Given the description of an element on the screen output the (x, y) to click on. 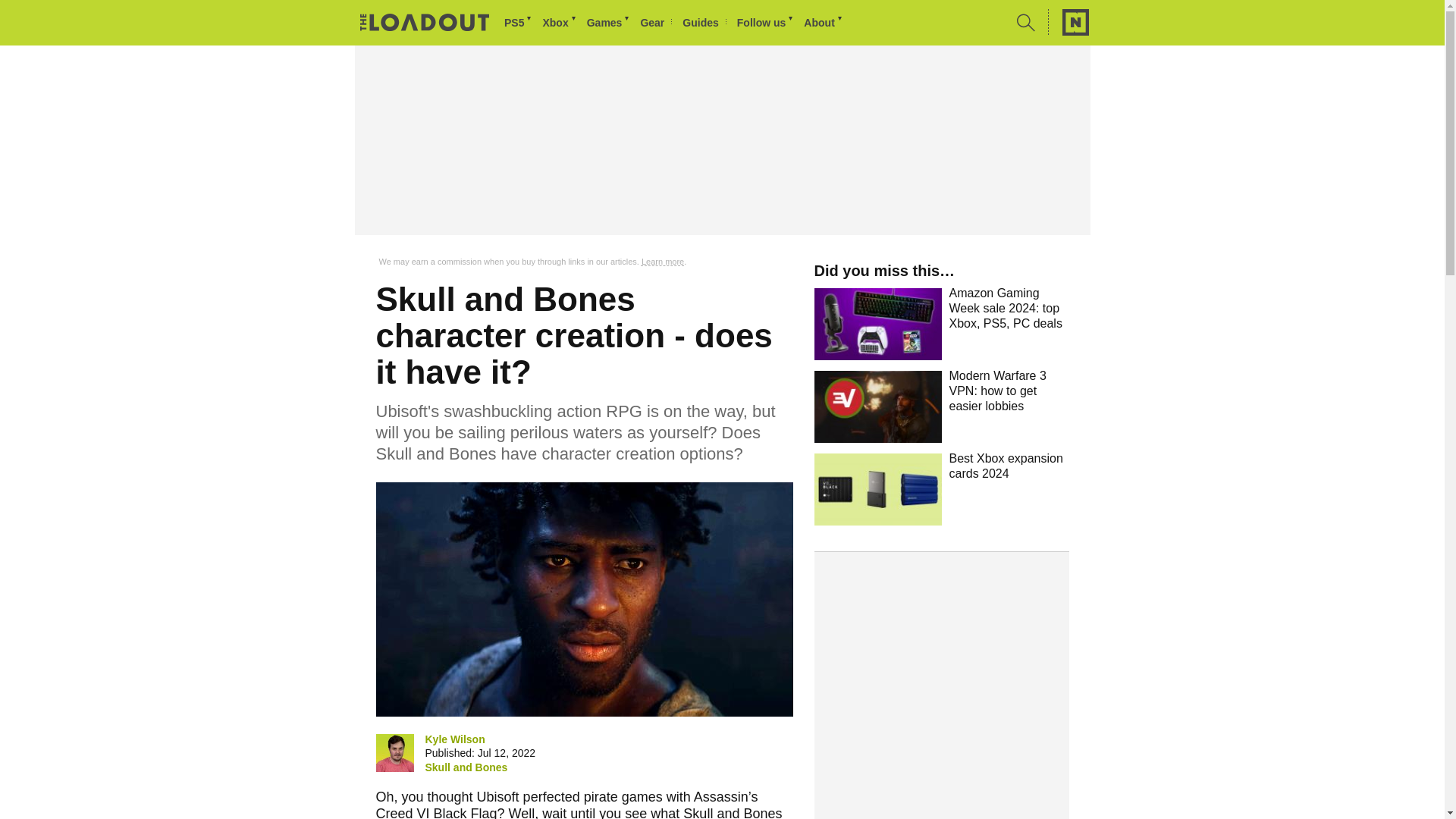
Kyle Wilson (394, 752)
Guides (704, 22)
Skull and Bones (465, 767)
Network N Media (1068, 22)
The Loadout (424, 24)
Games (608, 22)
Skull and Bones character creation - does it have it? (584, 599)
Game Guides (704, 22)
Follow us (765, 22)
Kyle Wilson (454, 739)
Follow The Loadout (765, 22)
Learn more (663, 261)
